Given the description of an element on the screen output the (x, y) to click on. 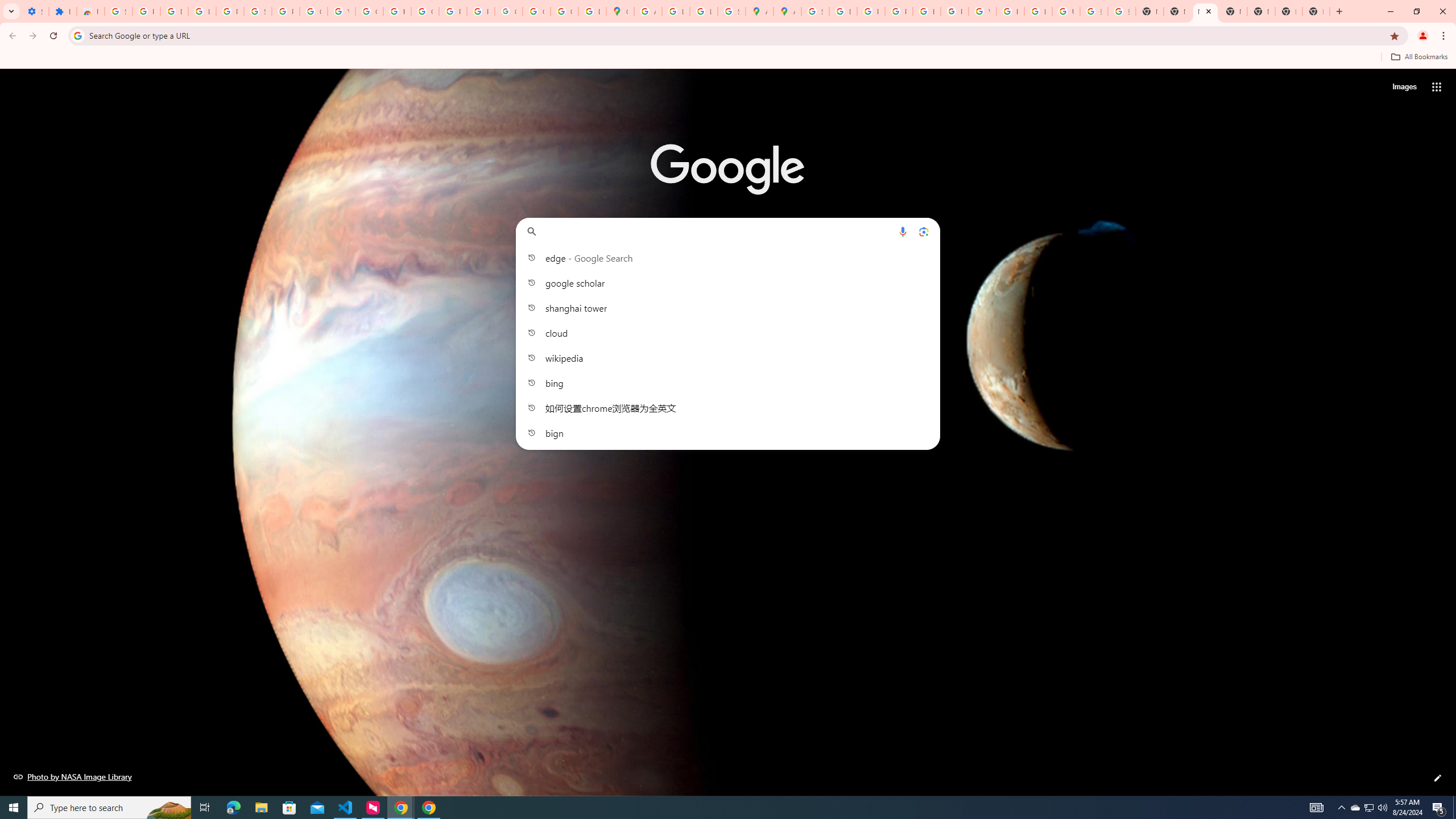
YouTube (341, 11)
Safety in Our Products - Google Safety Center (731, 11)
